Given the description of an element on the screen output the (x, y) to click on. 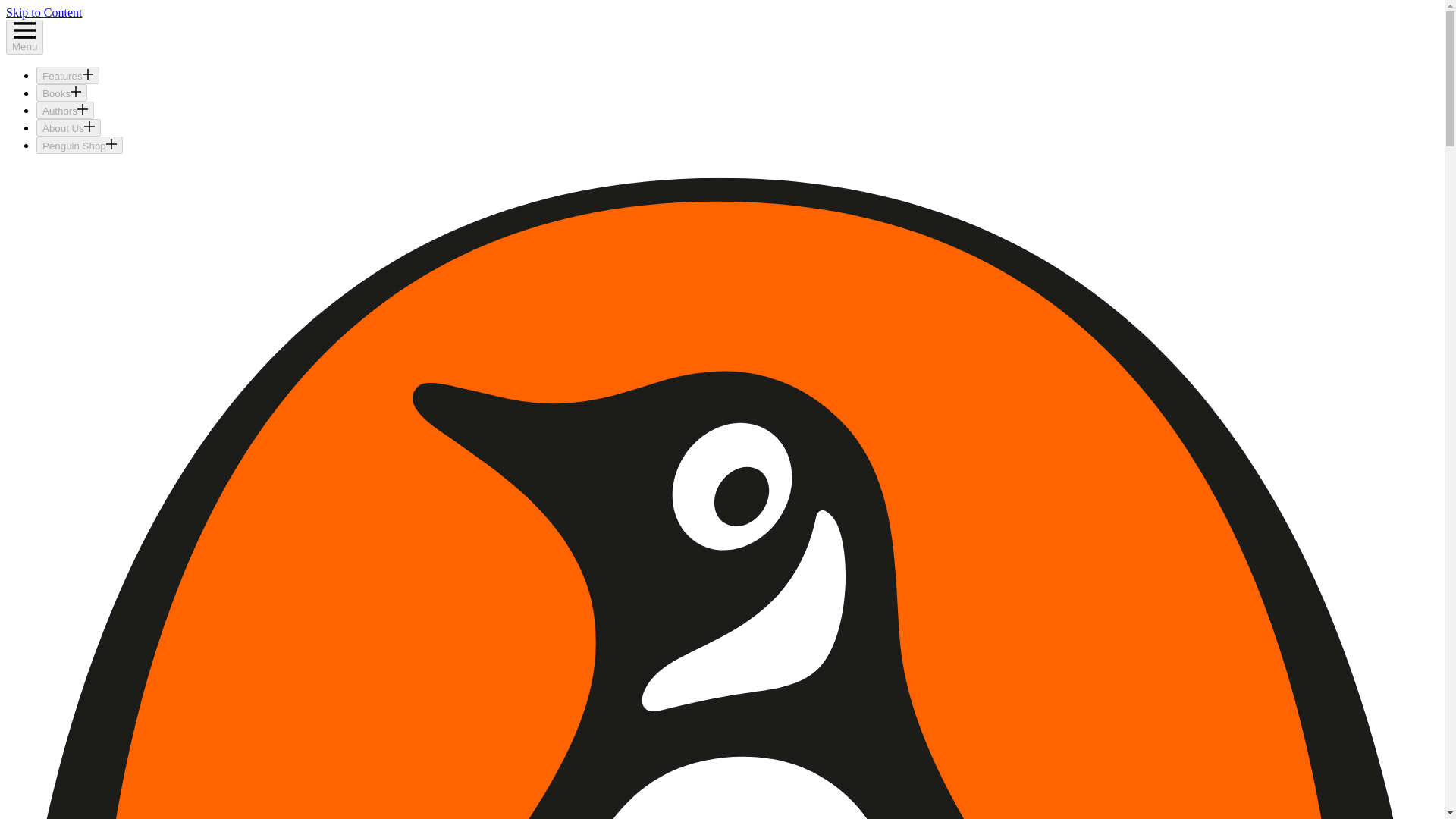
About Us (68, 127)
Menu (24, 36)
Features (67, 75)
Penguin Shop (79, 144)
Books (61, 92)
Authors (65, 109)
Skip to Content (43, 11)
